Given the description of an element on the screen output the (x, y) to click on. 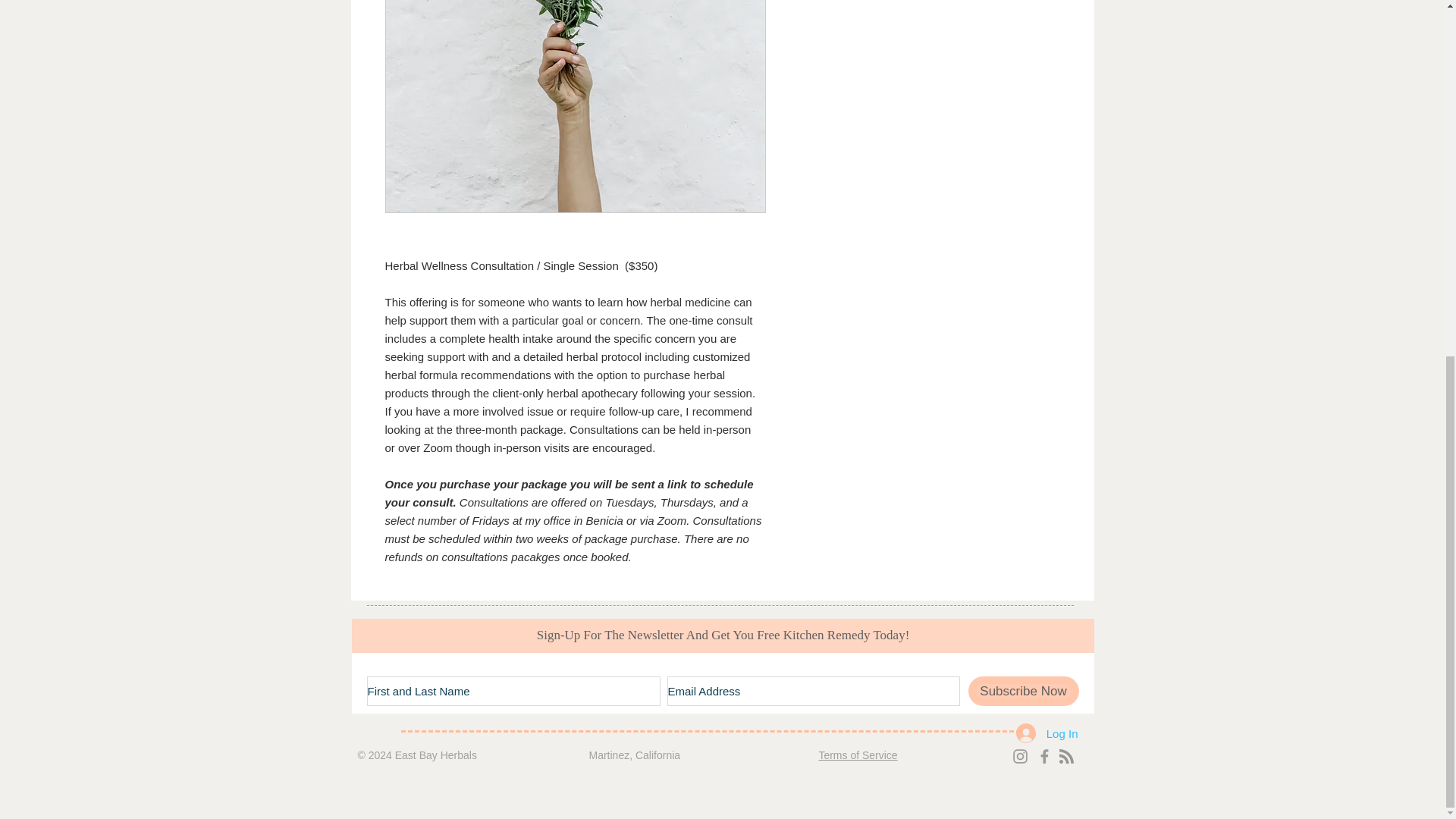
Subscribe Now (1023, 690)
Terms of Service (857, 755)
Log In (1047, 733)
